Given the description of an element on the screen output the (x, y) to click on. 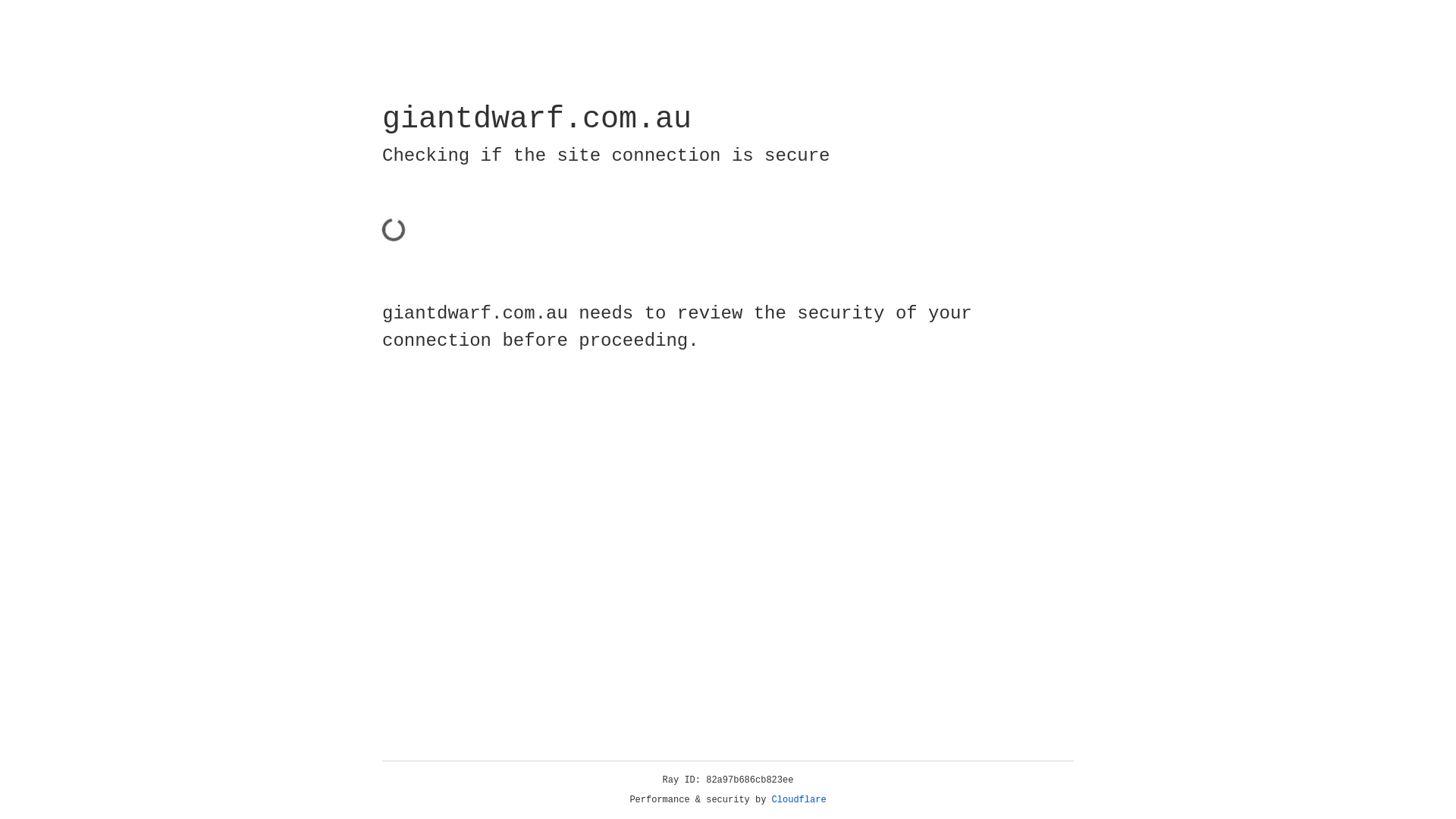
Cloudflare Element type: text (798, 799)
